Given the description of an element on the screen output the (x, y) to click on. 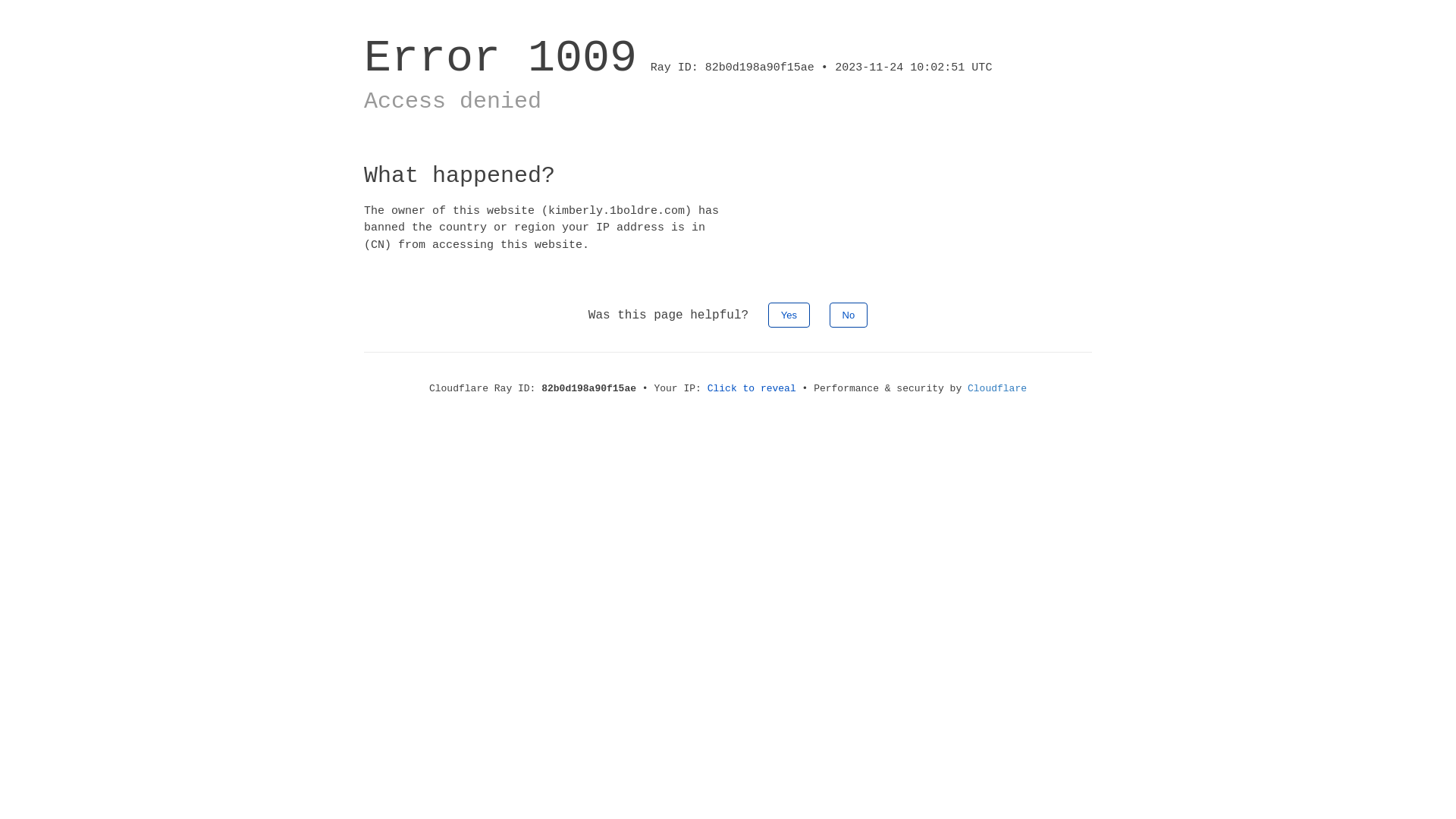
Cloudflare Element type: text (996, 388)
No Element type: text (848, 314)
Yes Element type: text (788, 314)
Click to reveal Element type: text (751, 388)
